Given the description of an element on the screen output the (x, y) to click on. 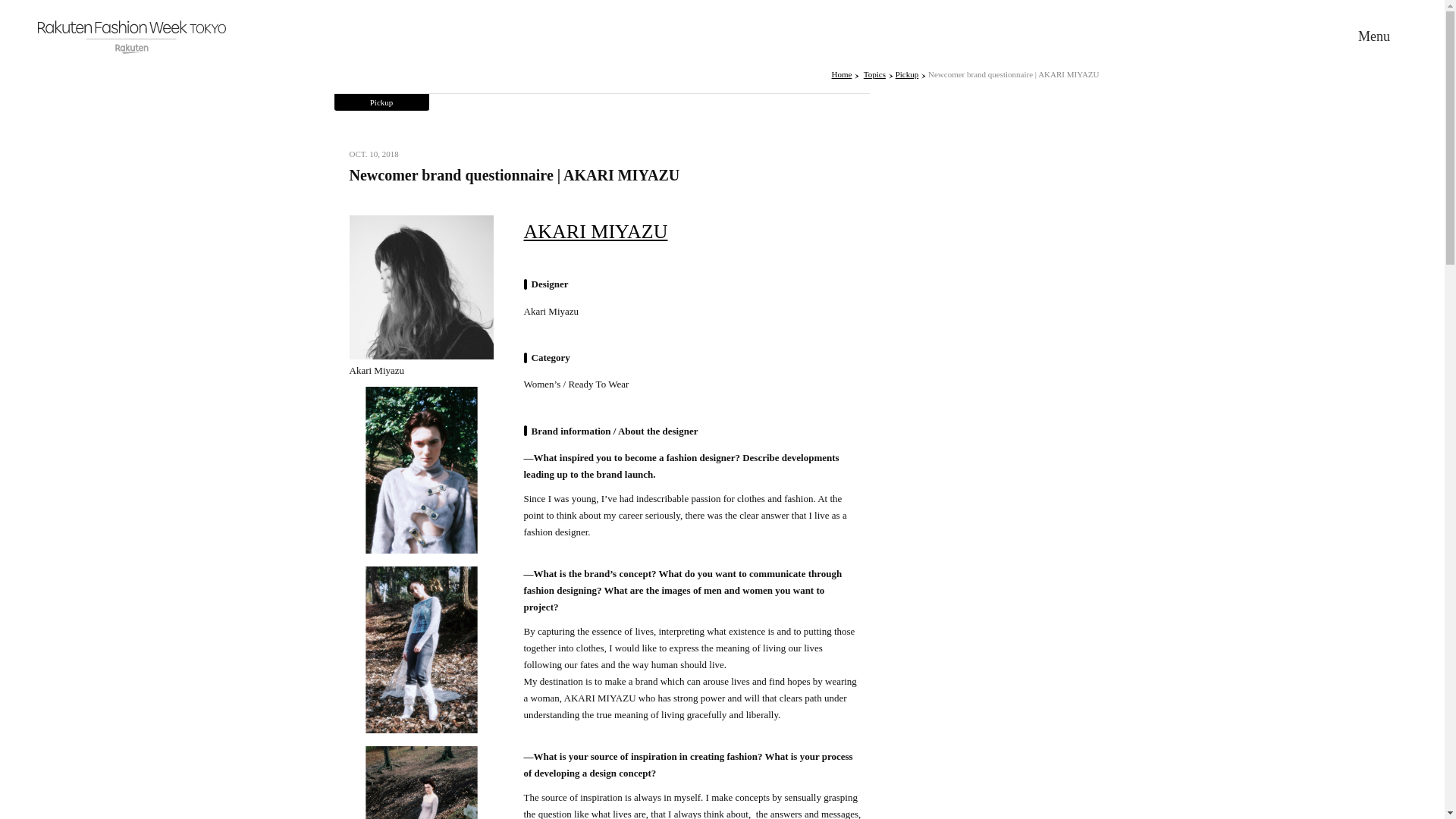
Topics (878, 73)
Menu (1373, 36)
Pickup (380, 102)
Home (845, 73)
Pickup (910, 73)
